Given the description of an element on the screen output the (x, y) to click on. 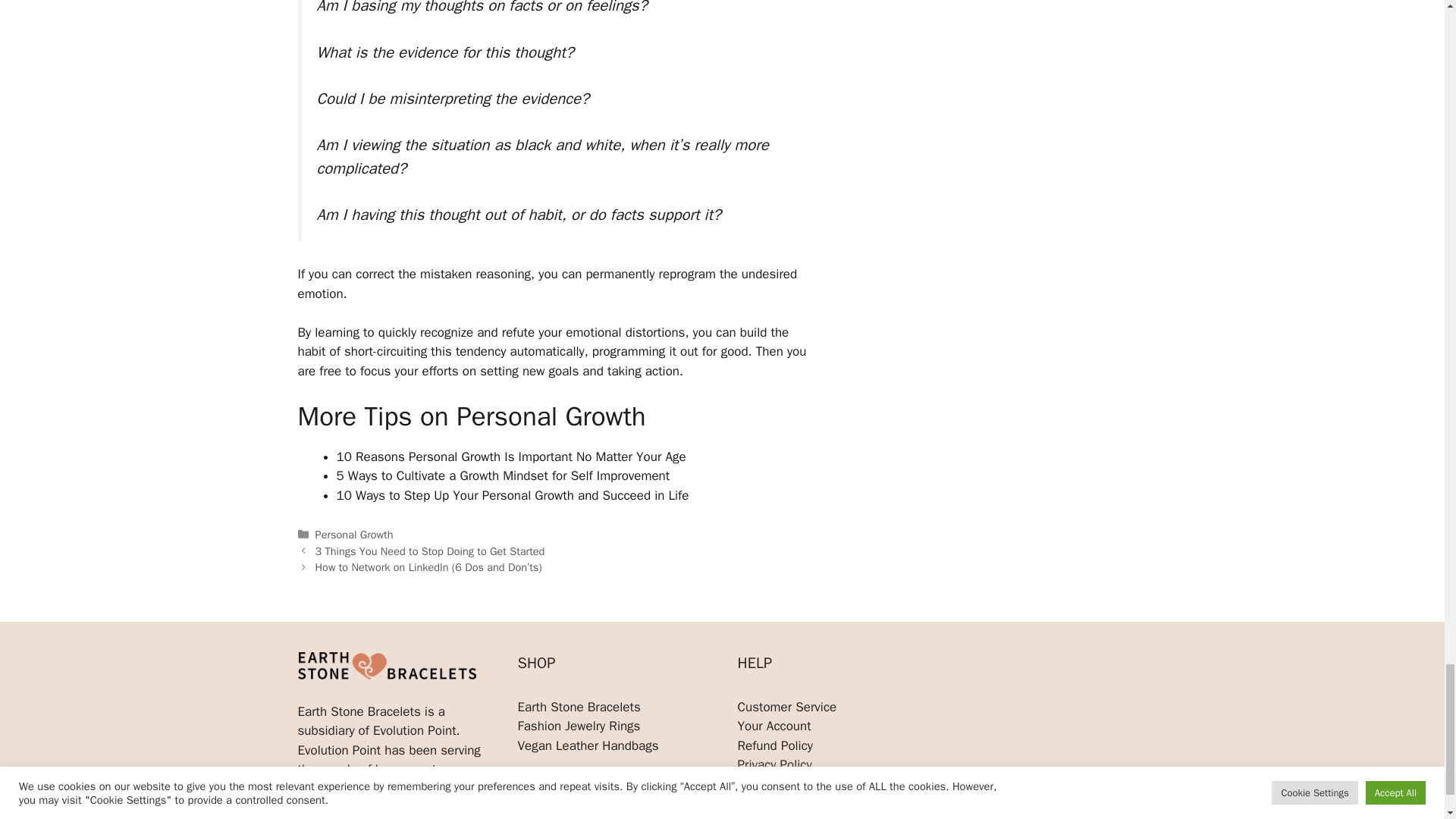
Personal Growth (354, 534)
Privacy Policy (773, 764)
Vegan Leather Handbags (587, 745)
Your Account (773, 725)
Customer Service (785, 706)
Earth Stone Bracelets (578, 706)
3 Things You Need to Stop Doing to Get Started (429, 550)
Refund Policy (774, 745)
Fashion Jewelry Rings (578, 725)
